Given the description of an element on the screen output the (x, y) to click on. 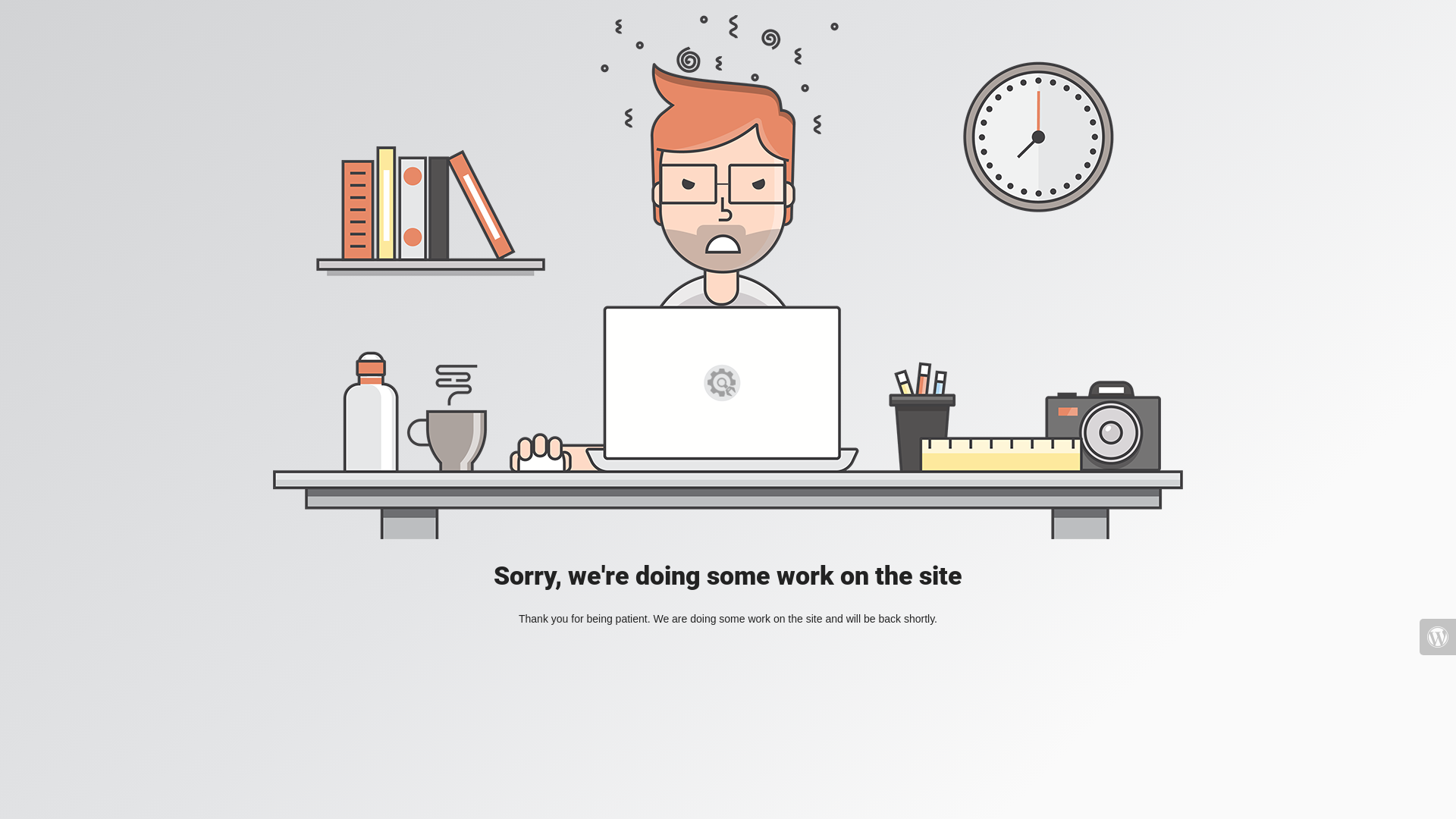
Mad Designer at work Element type: hover (728, 277)
